Given the description of an element on the screen output the (x, y) to click on. 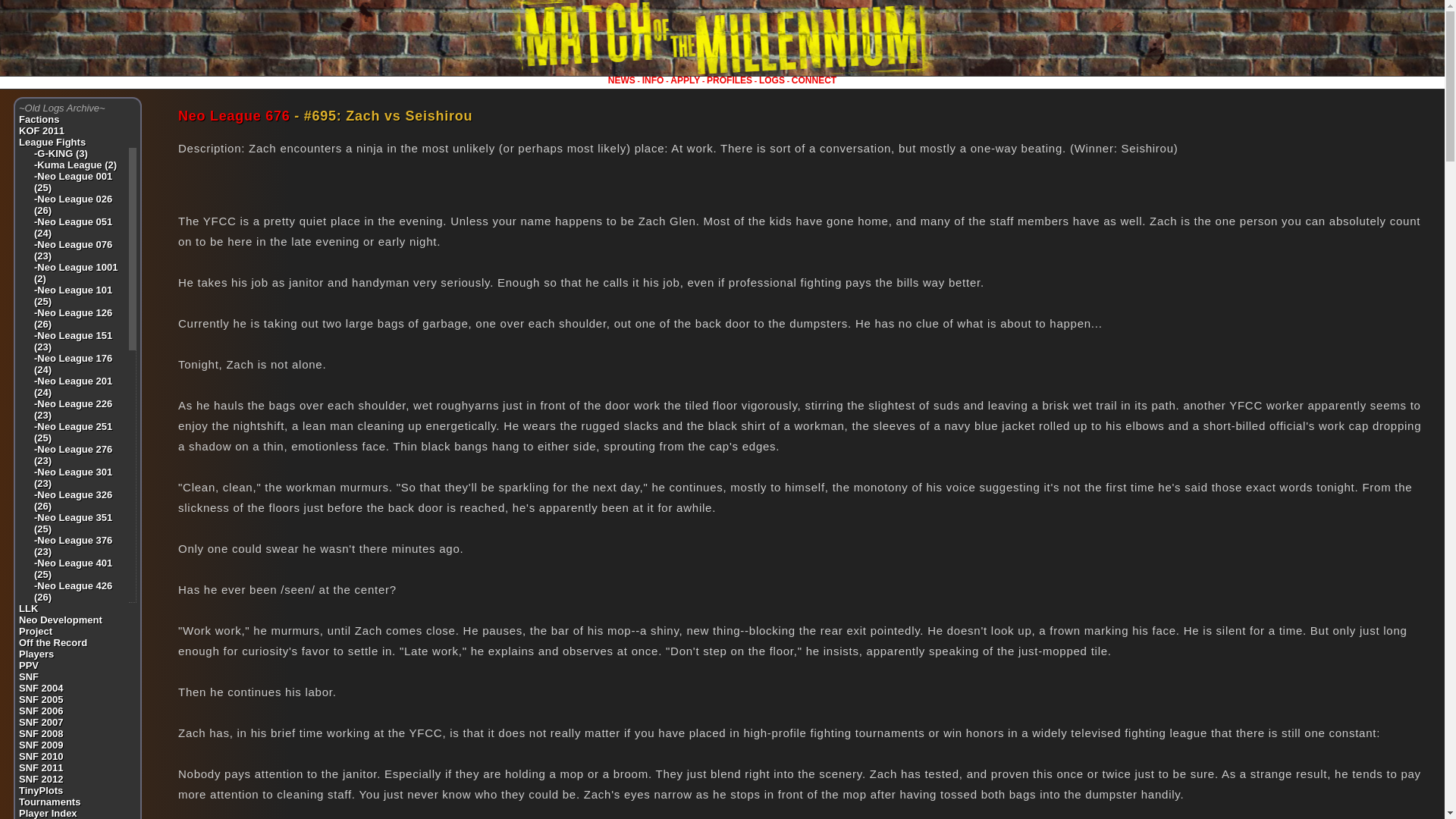
LOGS (771, 80)
APPLY (684, 80)
CONNECT (813, 80)
PROFILES (729, 80)
NEWS (621, 80)
INFO (652, 80)
